Given the description of an element on the screen output the (x, y) to click on. 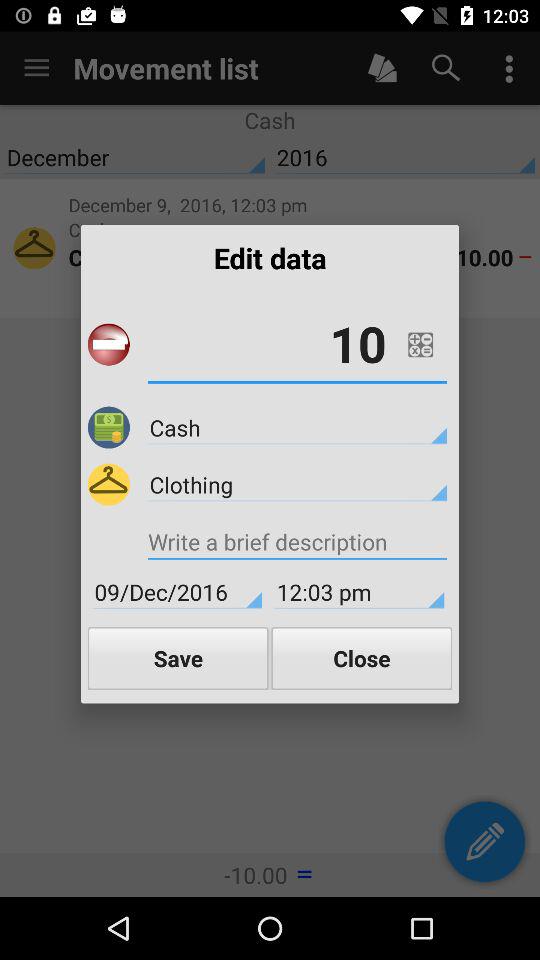
swipe until the close item (361, 658)
